Given the description of an element on the screen output the (x, y) to click on. 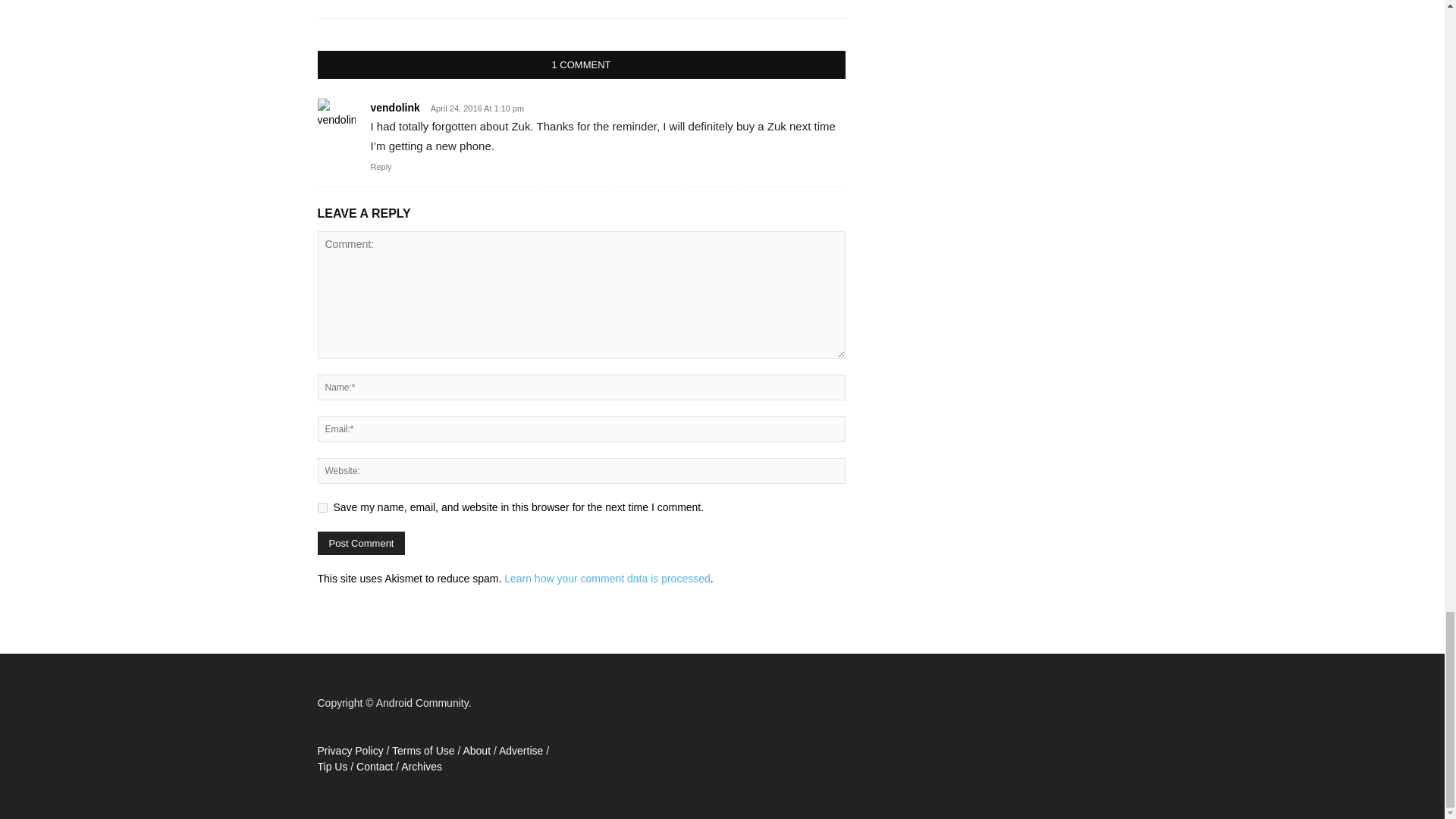
Post Comment (360, 543)
yes (321, 507)
